Given the description of an element on the screen output the (x, y) to click on. 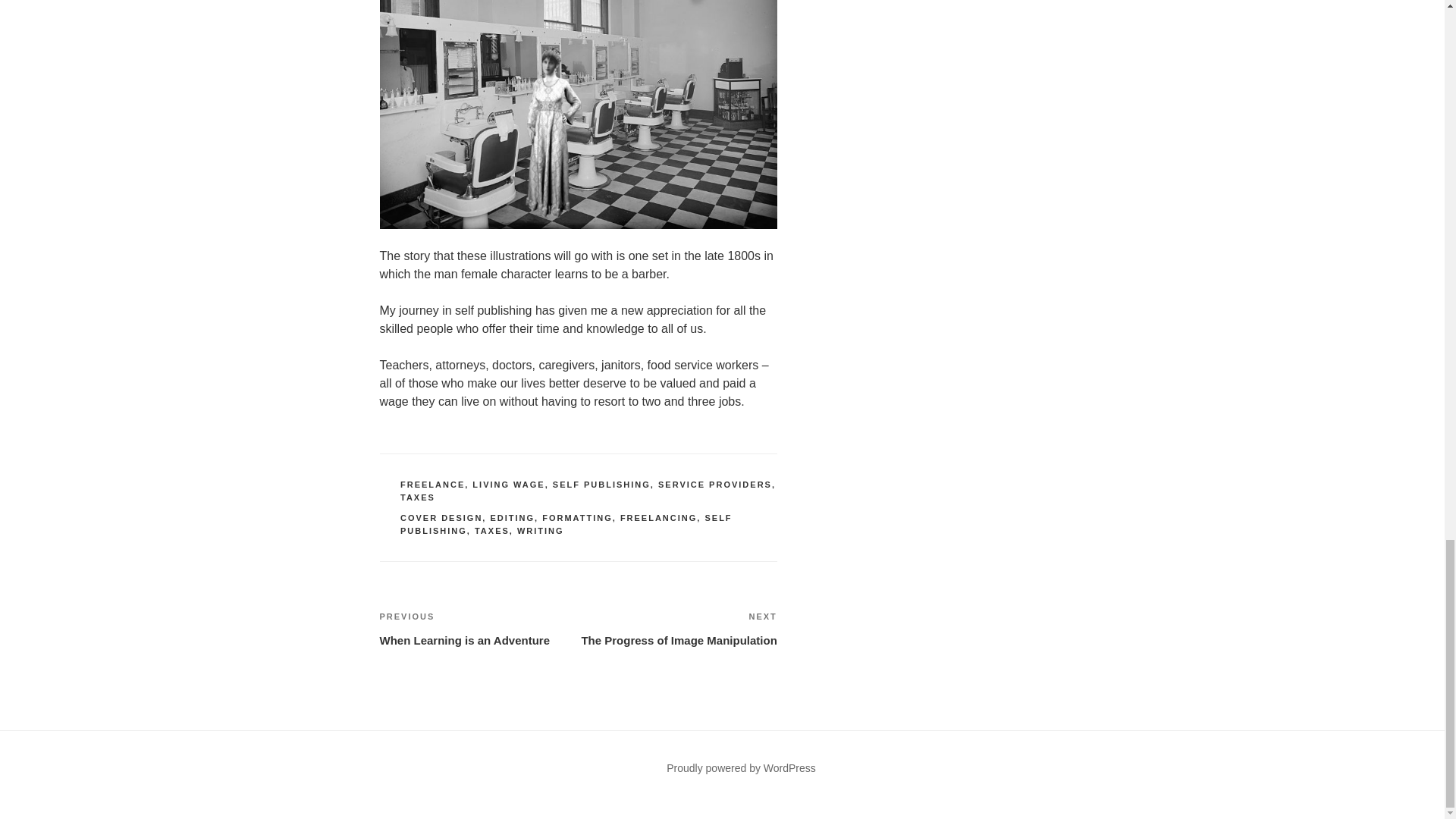
Email (475, 786)
FREELANCING (658, 517)
COVER DESIGN (440, 517)
SELF PUBLISHING (566, 524)
Proudly powered by WordPress (478, 628)
FREELANCE (677, 628)
WRITING (740, 767)
TAXES (432, 483)
Instagram (540, 530)
TAXES (417, 497)
FORMATTING (406, 786)
LIVING WAGE (491, 530)
SERVICE PROVIDERS (576, 517)
